Given the description of an element on the screen output the (x, y) to click on. 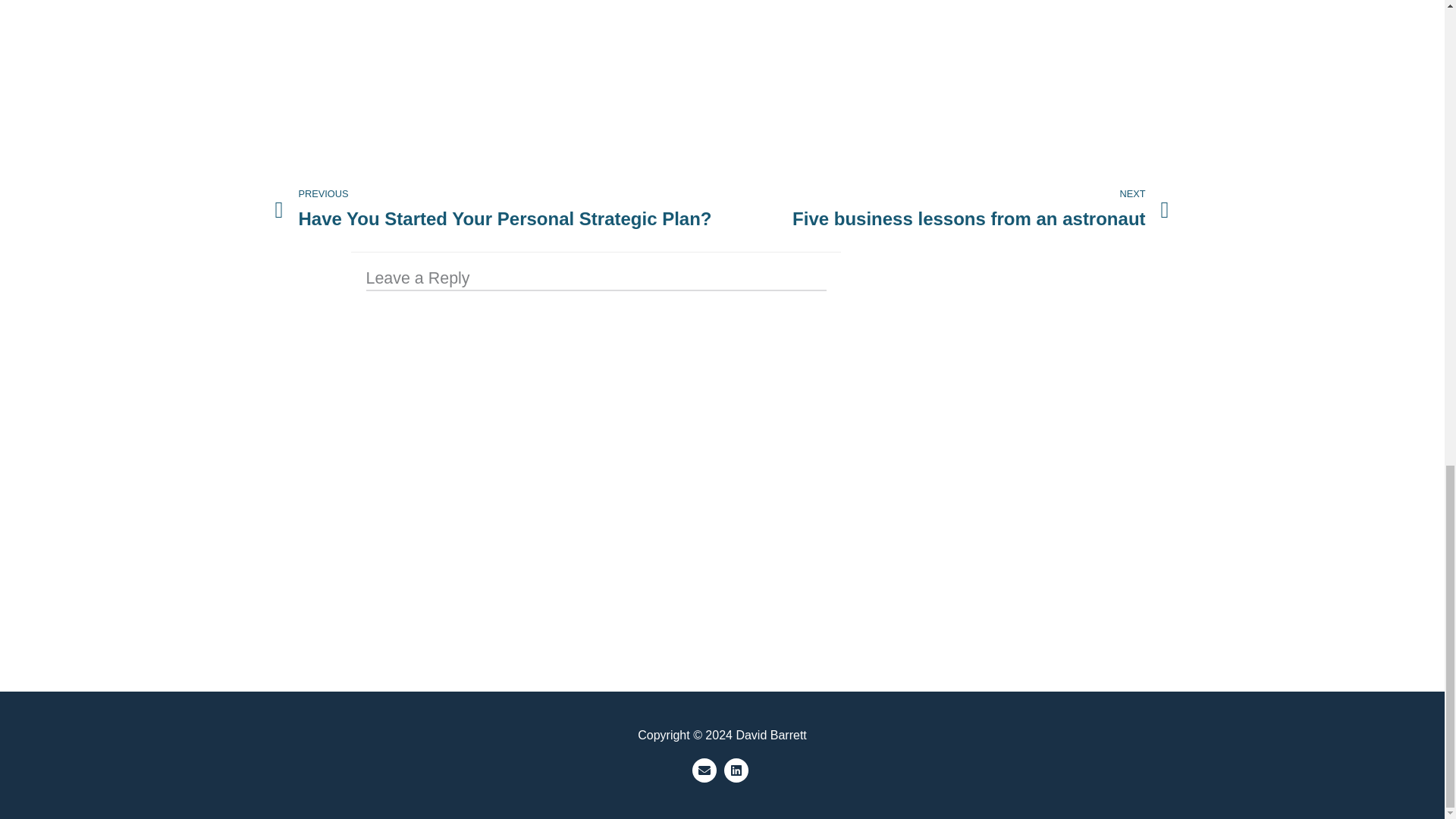
Comment Form (945, 210)
